Given the description of an element on the screen output the (x, y) to click on. 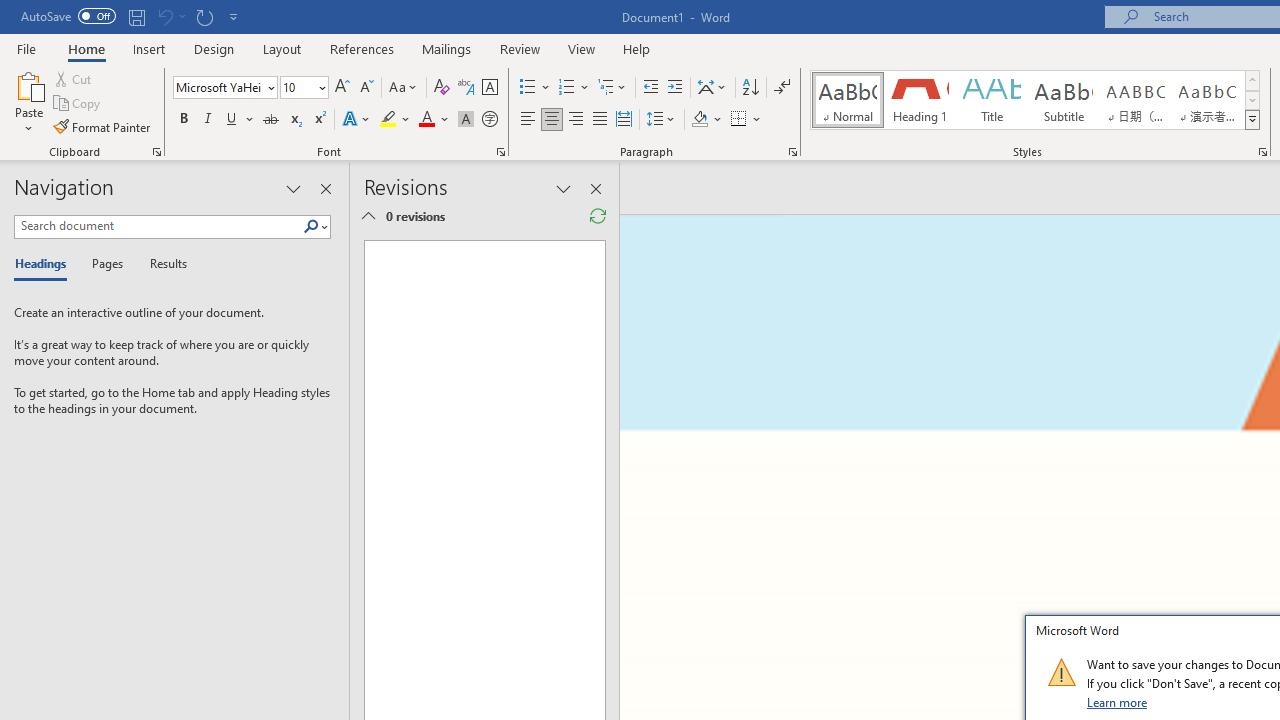
Refresh Reviewing Pane (597, 215)
